Given the description of an element on the screen output the (x, y) to click on. 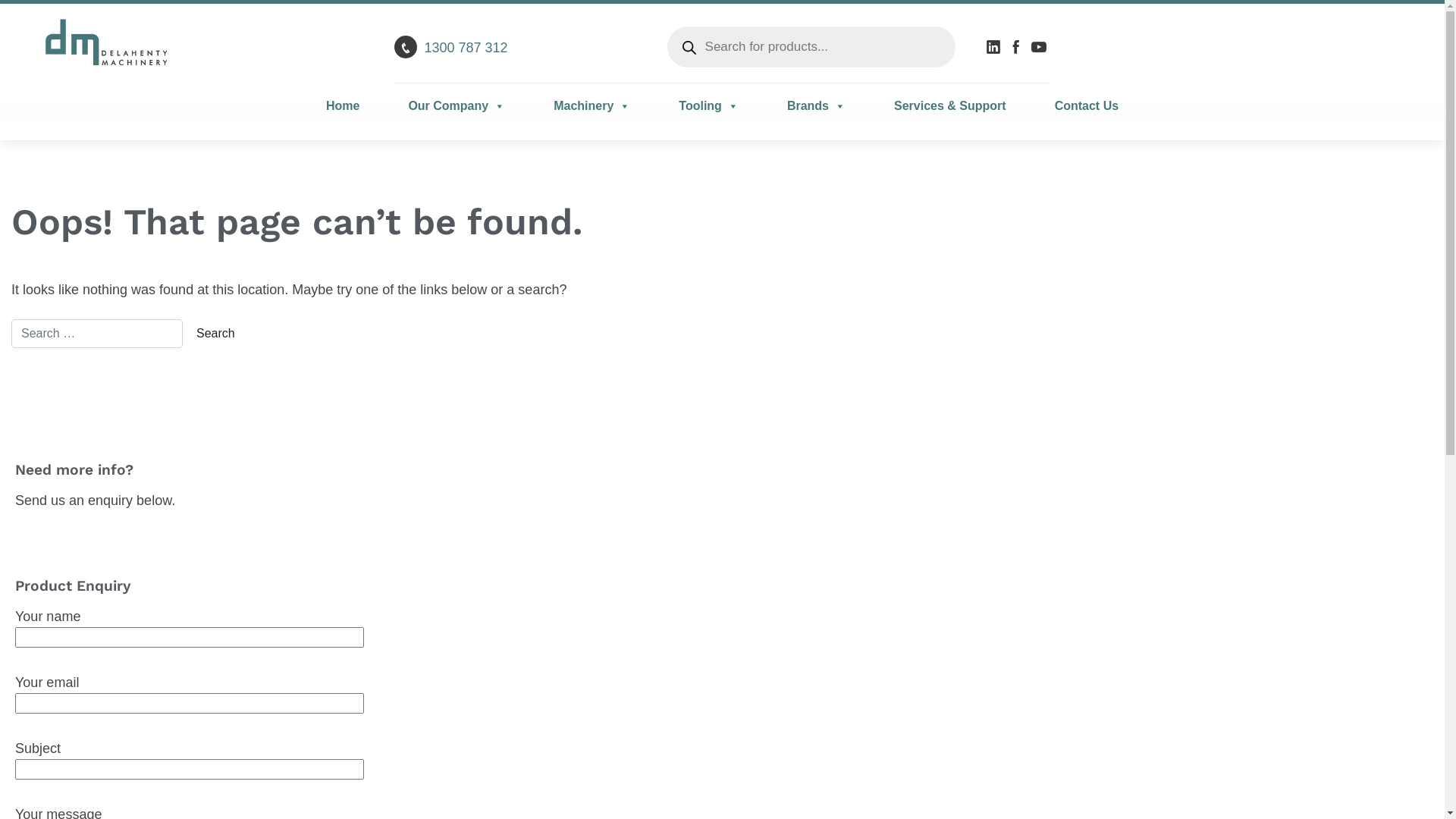
Search for: Element type: hover (96, 333)
Contact Us Element type: text (1074, 106)
Services & Support Element type: text (949, 106)
Machinery Element type: text (591, 106)
1300 787 312 Element type: text (465, 47)
LinkedIn Element type: hover (994, 46)
Tooling Element type: text (708, 106)
Search Element type: text (215, 333)
Brands Element type: text (815, 106)
Facebook Element type: hover (1017, 46)
YouTube Element type: hover (1040, 46)
Home Element type: text (354, 106)
Our Company Element type: text (456, 106)
